Given the description of an element on the screen output the (x, y) to click on. 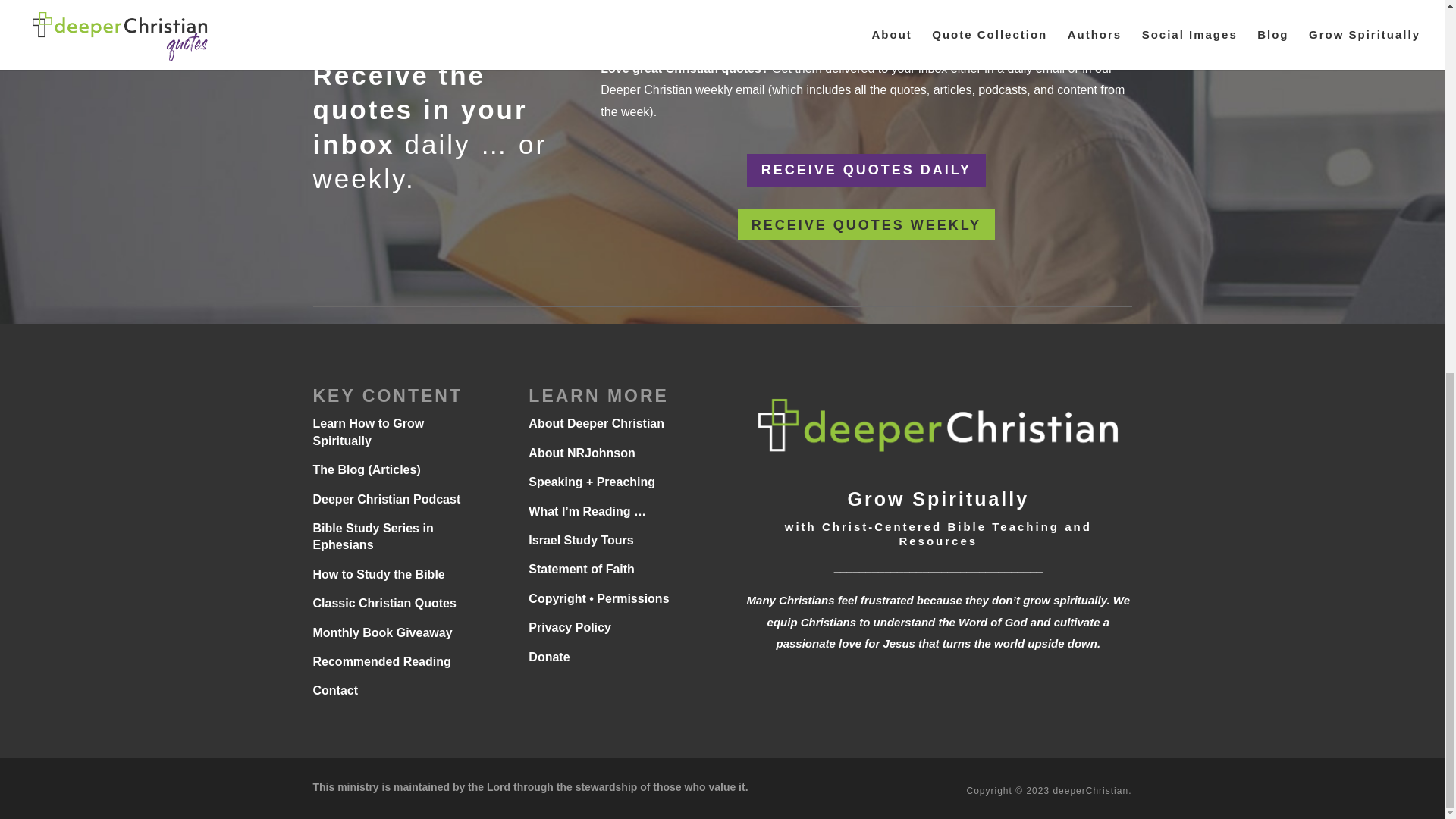
Bible Study Series in Ephesians (372, 536)
Recommended Reading (381, 661)
Israel Study Tours (580, 540)
RECEIVE QUOTES WEEKLY (866, 224)
Classic Christian Quotes (384, 603)
Learn How to Grow Spiritually (368, 431)
About NRJohnson (581, 452)
How to Study the Bible (378, 574)
Deeper Christian Podcast (386, 499)
Contact (335, 689)
Monthly Book Giveaway (382, 631)
Privacy Policy (569, 626)
About Deeper Christian (595, 422)
Donate (548, 656)
Statement of Faith (581, 568)
